Given the description of an element on the screen output the (x, y) to click on. 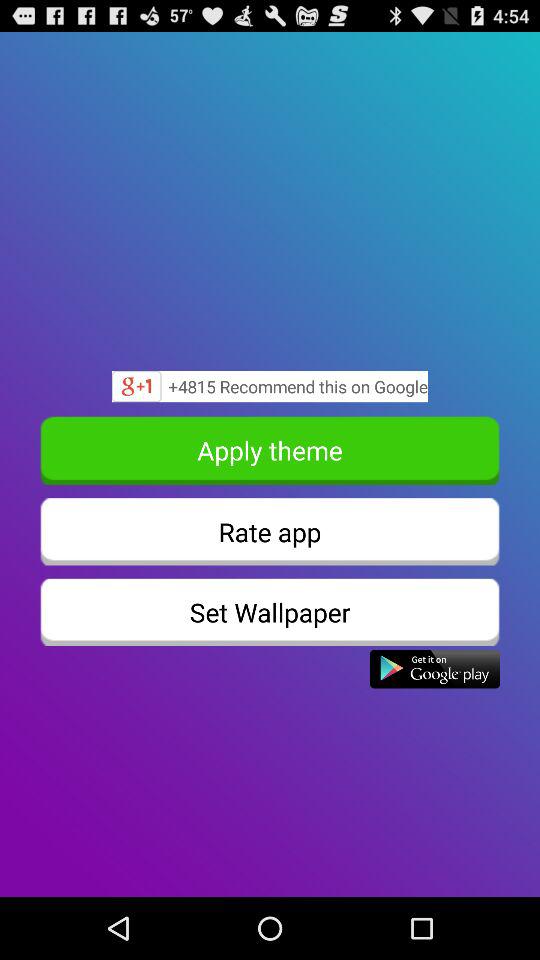
swipe to the rate app (269, 531)
